Given the description of an element on the screen output the (x, y) to click on. 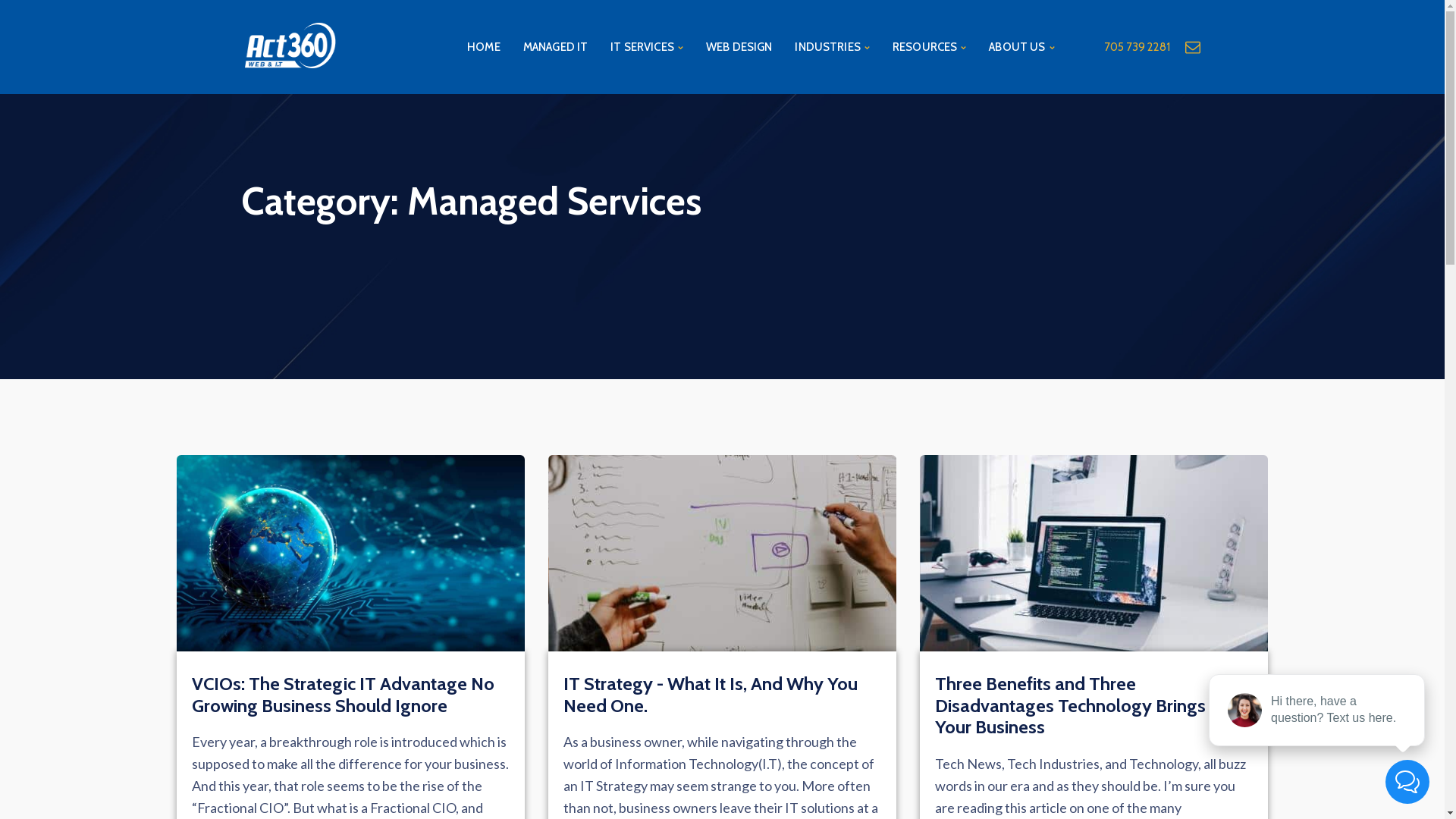
HOME Element type: text (483, 47)
ABOUT US Element type: text (1021, 47)
IT Strategy - What It Is, And Why You Need One. Element type: text (709, 694)
IT SERVICES Element type: text (646, 47)
MANAGED IT Element type: text (555, 47)
705 739 2281 Element type: text (1137, 46)
WEB DESIGN Element type: text (739, 47)
